Given the description of an element on the screen output the (x, y) to click on. 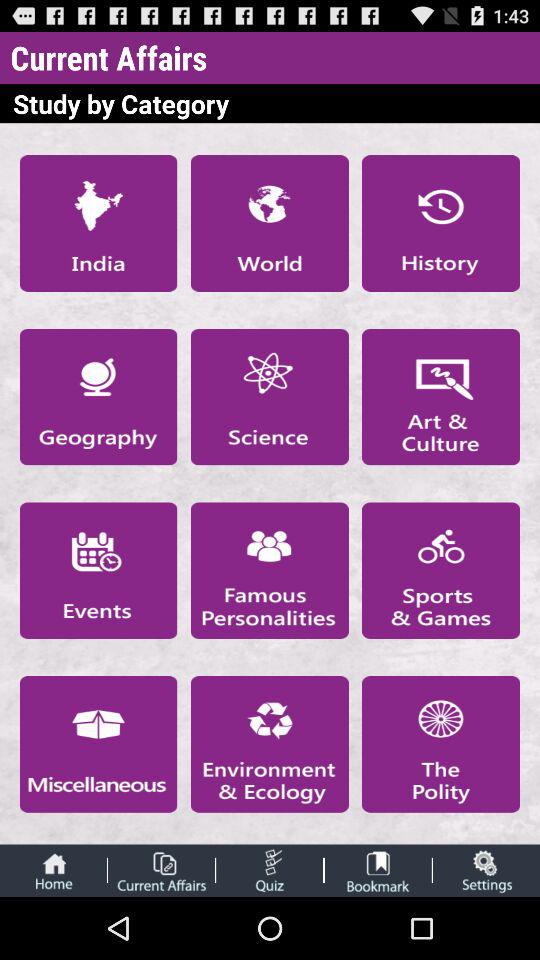
miscellaneous category (98, 744)
